Given the description of an element on the screen output the (x, y) to click on. 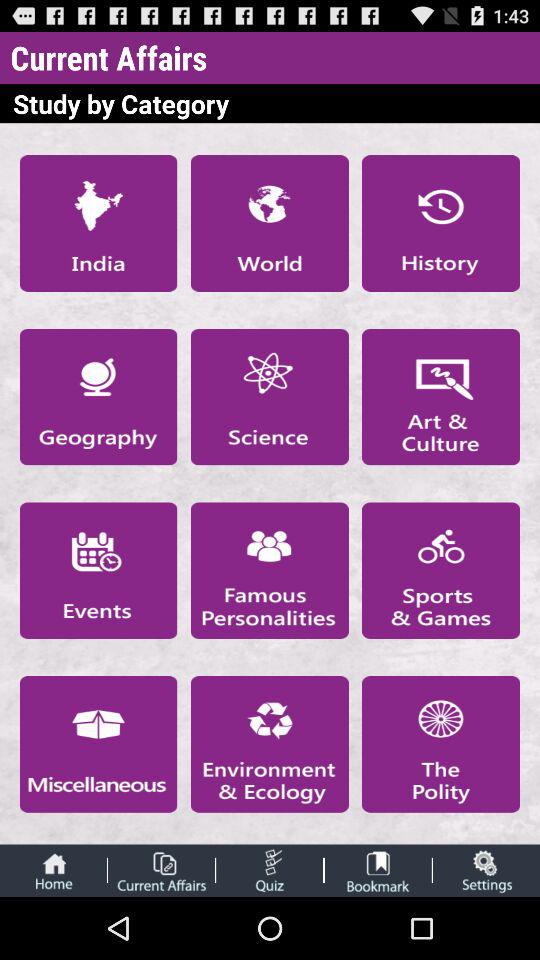
miscellaneous category (98, 744)
